Given the description of an element on the screen output the (x, y) to click on. 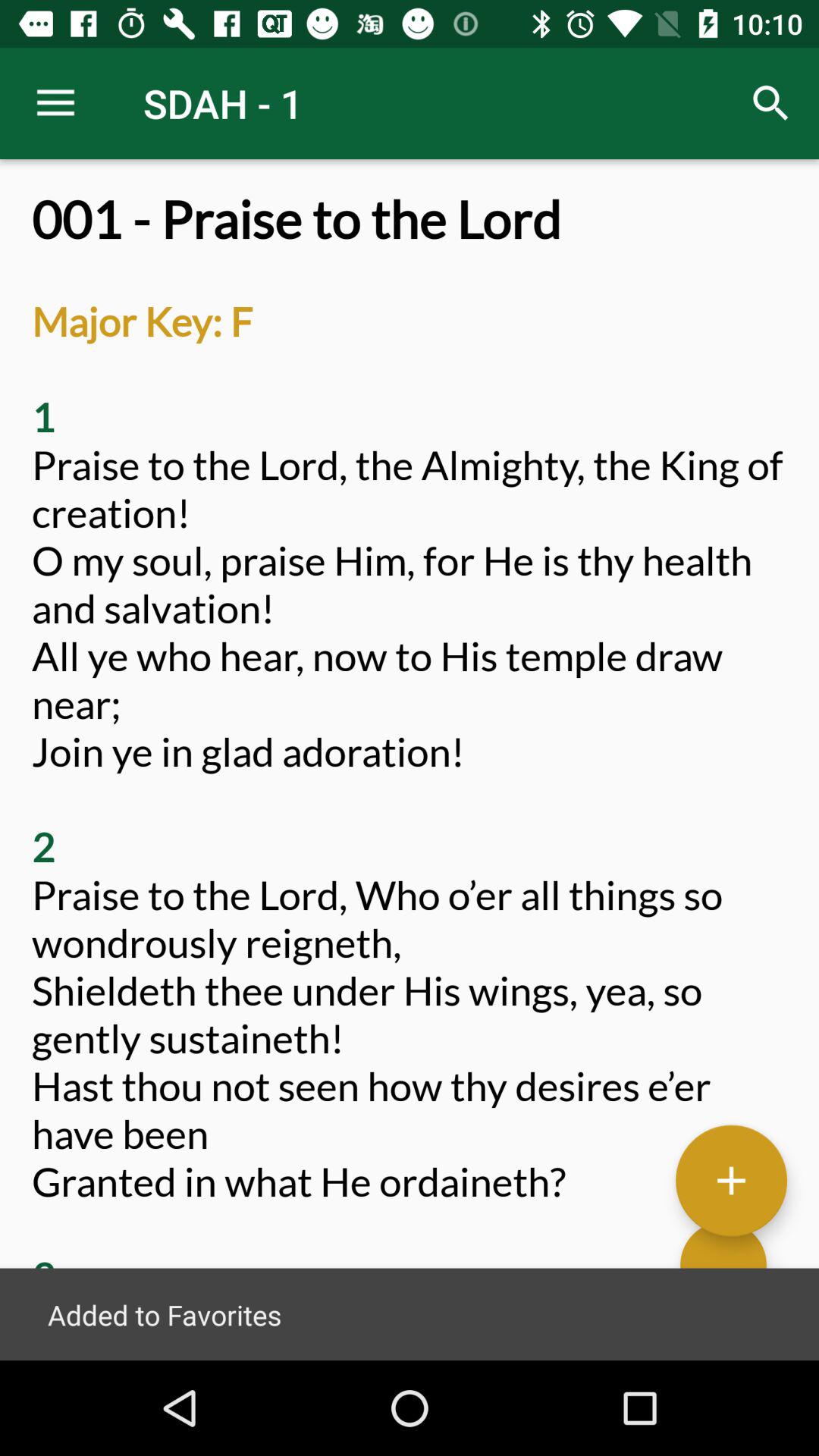
launch icon above 001 praise to item (771, 103)
